Given the description of an element on the screen output the (x, y) to click on. 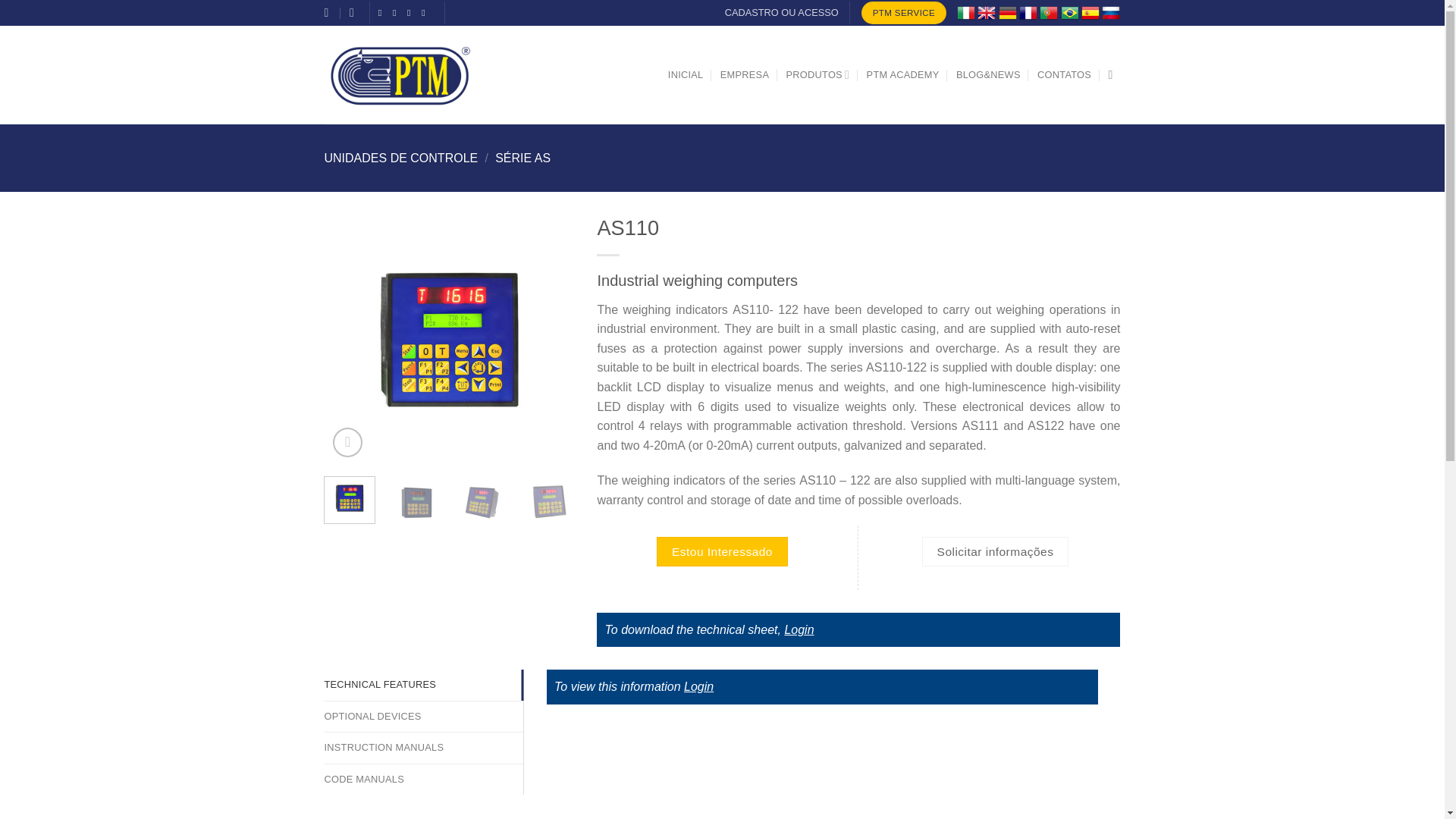
PRODUTOS (818, 74)
Zoom (347, 442)
PTM SERVICE (903, 12)
EMPRESA (744, 74)
INICIAL (685, 74)
CADASTRO OU ACESSO (781, 12)
